Given the description of an element on the screen output the (x, y) to click on. 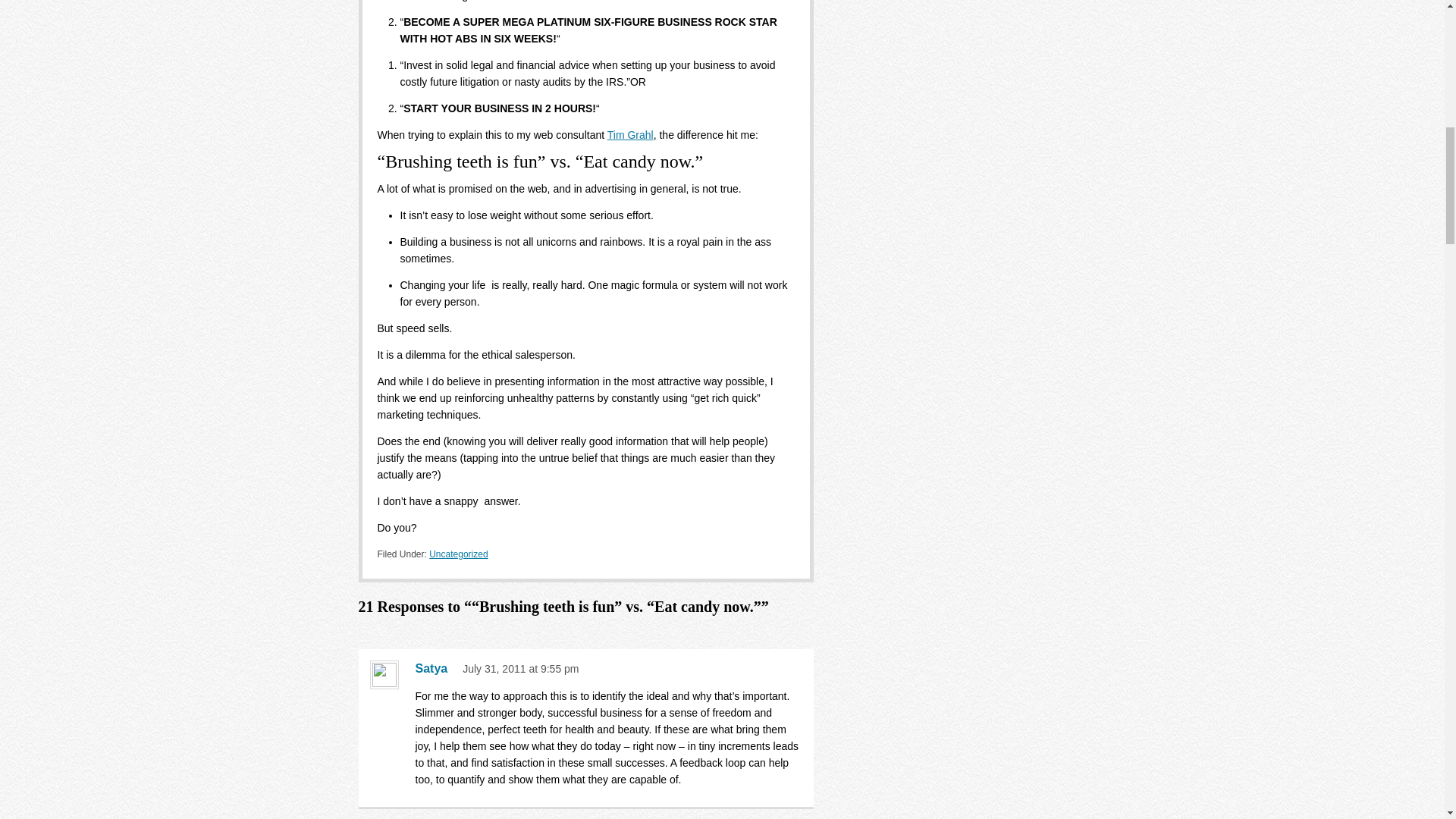
Satya (434, 668)
Uncategorized (458, 553)
July 31, 2011 at 9:55 pm (520, 668)
Tim Grahl (630, 134)
